Given the description of an element on the screen output the (x, y) to click on. 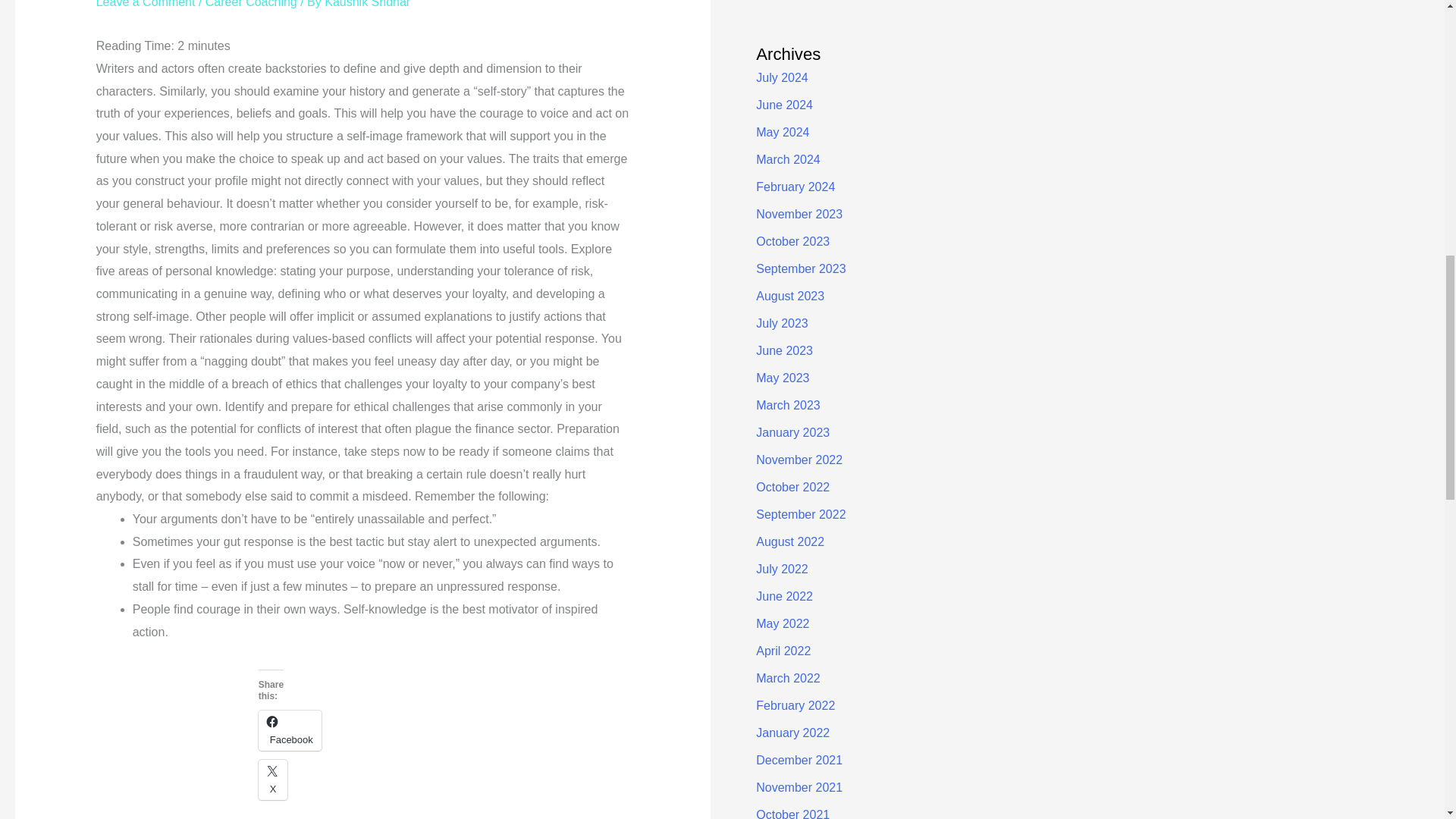
View all posts by Kaushik Sridhar (367, 4)
Click to share on Facebook (290, 730)
